Given the description of an element on the screen output the (x, y) to click on. 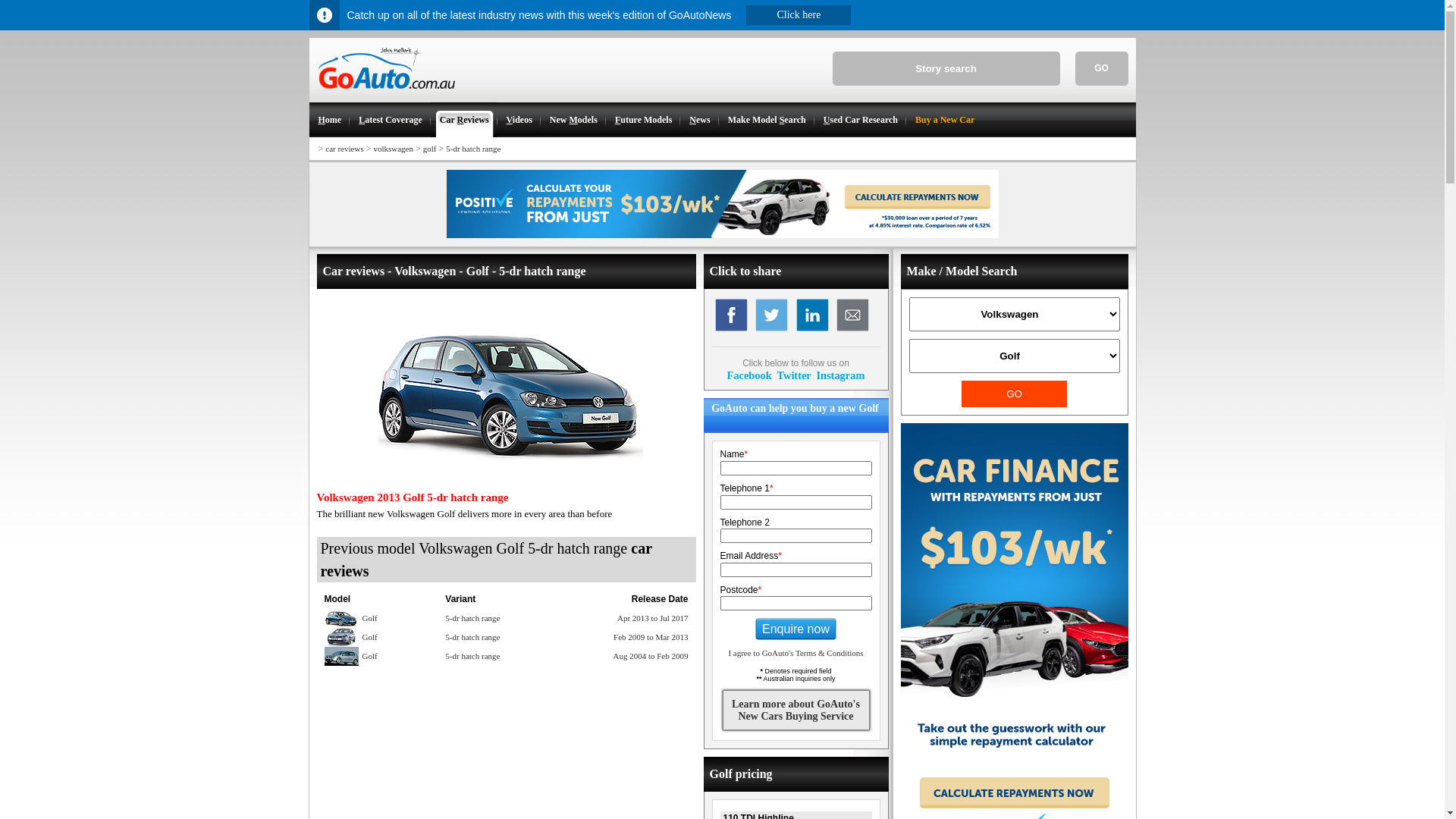
GO Element type: text (1101, 68)
Latest Coverage Element type: text (389, 119)
Car Reviews Element type: text (463, 119)
Future Models Element type: text (642, 119)
golf Element type: text (429, 148)
Enquire now Element type: text (795, 629)
Buy a New Car Element type: text (944, 119)
Home Element type: text (329, 119)
5-dr hatch range Element type: text (472, 148)
Nodifi Leaderboard ad  Element type: hover (721, 234)
picture of the Volkswagen Golf 5-dr hatch range Element type: hover (506, 388)
Used Car Research Element type: text (859, 119)
Videos Element type: text (518, 119)
New Models Element type: text (572, 119)
Learn more about GoAuto's New Cars Buying Service Element type: text (795, 710)
Twitter Element type: text (793, 375)
GO Element type: text (1013, 393)
Make Model Search Element type: text (765, 119)
volkswagen Element type: text (393, 148)
News Element type: text (698, 119)
I agree to GoAuto's Terms & Conditions Element type: text (795, 652)
GoAuto.com.au Element type: hover (382, 95)
Facebook Element type: text (749, 375)
car reviews Element type: text (344, 148)
Instagram Element type: text (839, 375)
